Given the description of an element on the screen output the (x, y) to click on. 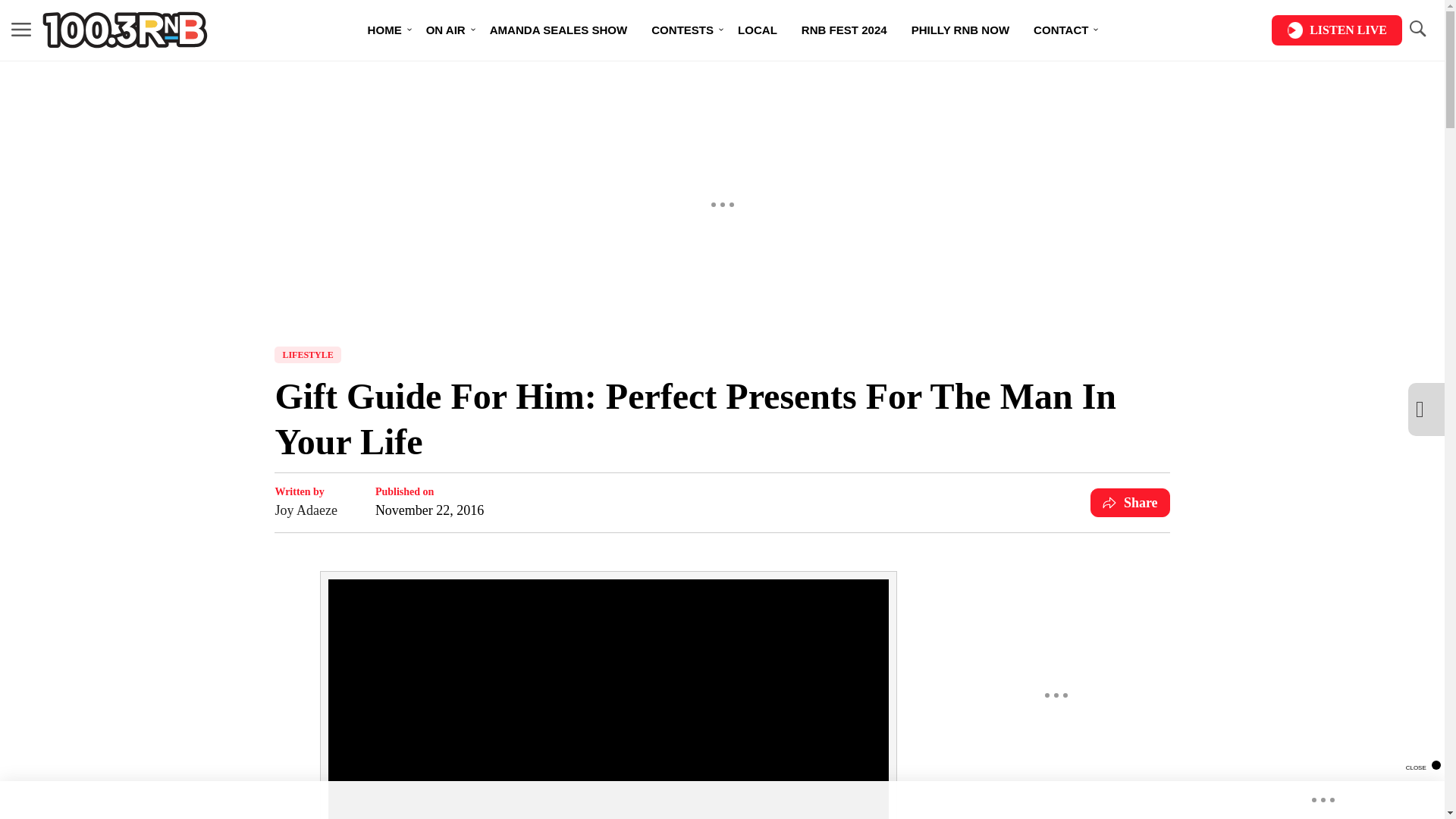
TOGGLE SEARCH (1417, 28)
Joy Adaeze (305, 509)
PHILLY RNB NOW (960, 30)
LIFESTYLE (307, 354)
LOCAL (757, 30)
RNB FEST 2024 (844, 30)
HOME (384, 30)
LISTEN LIVE (1336, 30)
ON AIR (445, 30)
MENU (20, 29)
TOGGLE SEARCH (1417, 30)
CONTESTS (682, 30)
MENU (20, 30)
CONTACT (1061, 30)
Share (1130, 502)
